Given the description of an element on the screen output the (x, y) to click on. 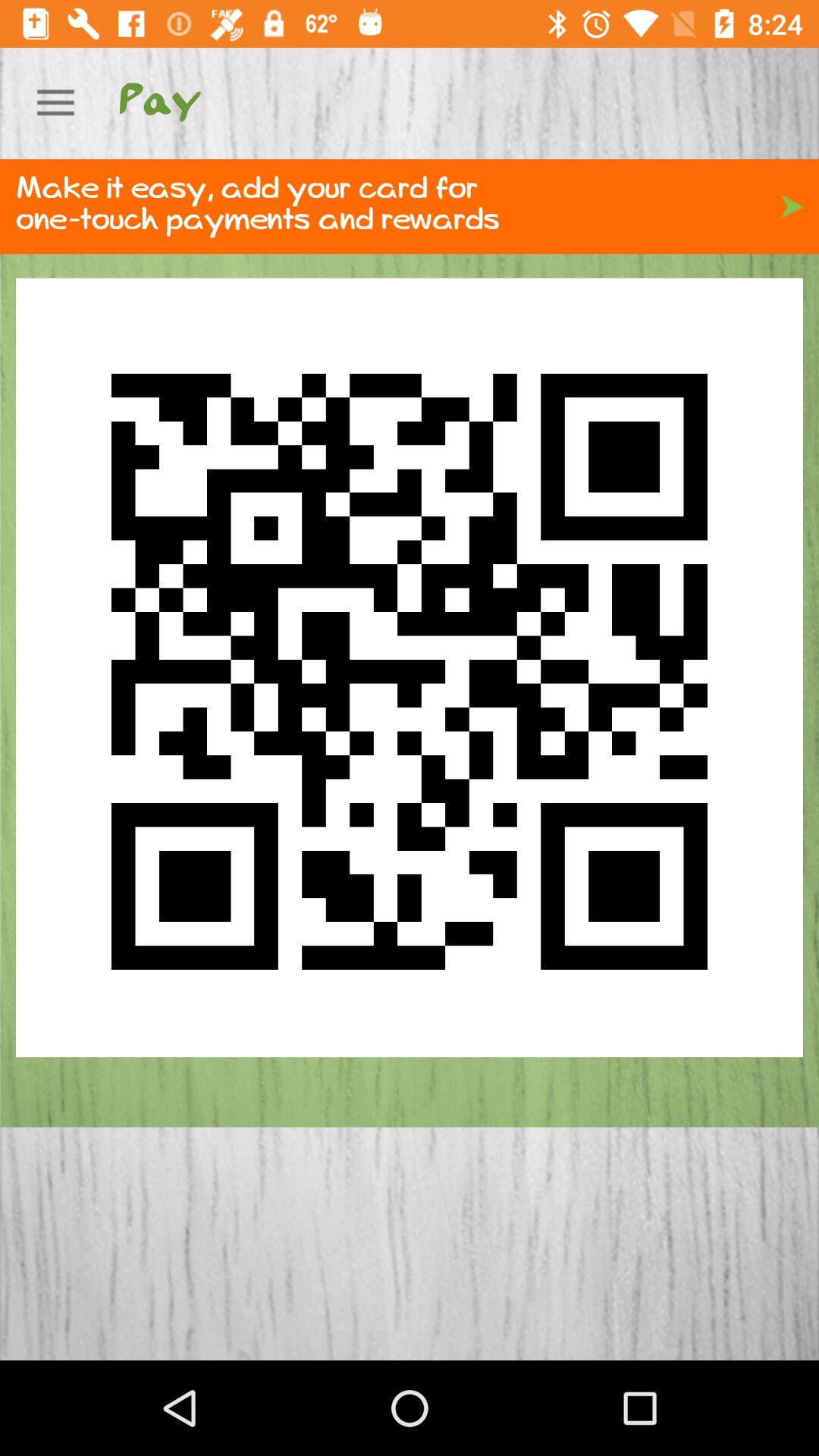
turn off the icon at the center (409, 667)
